Given the description of an element on the screen output the (x, y) to click on. 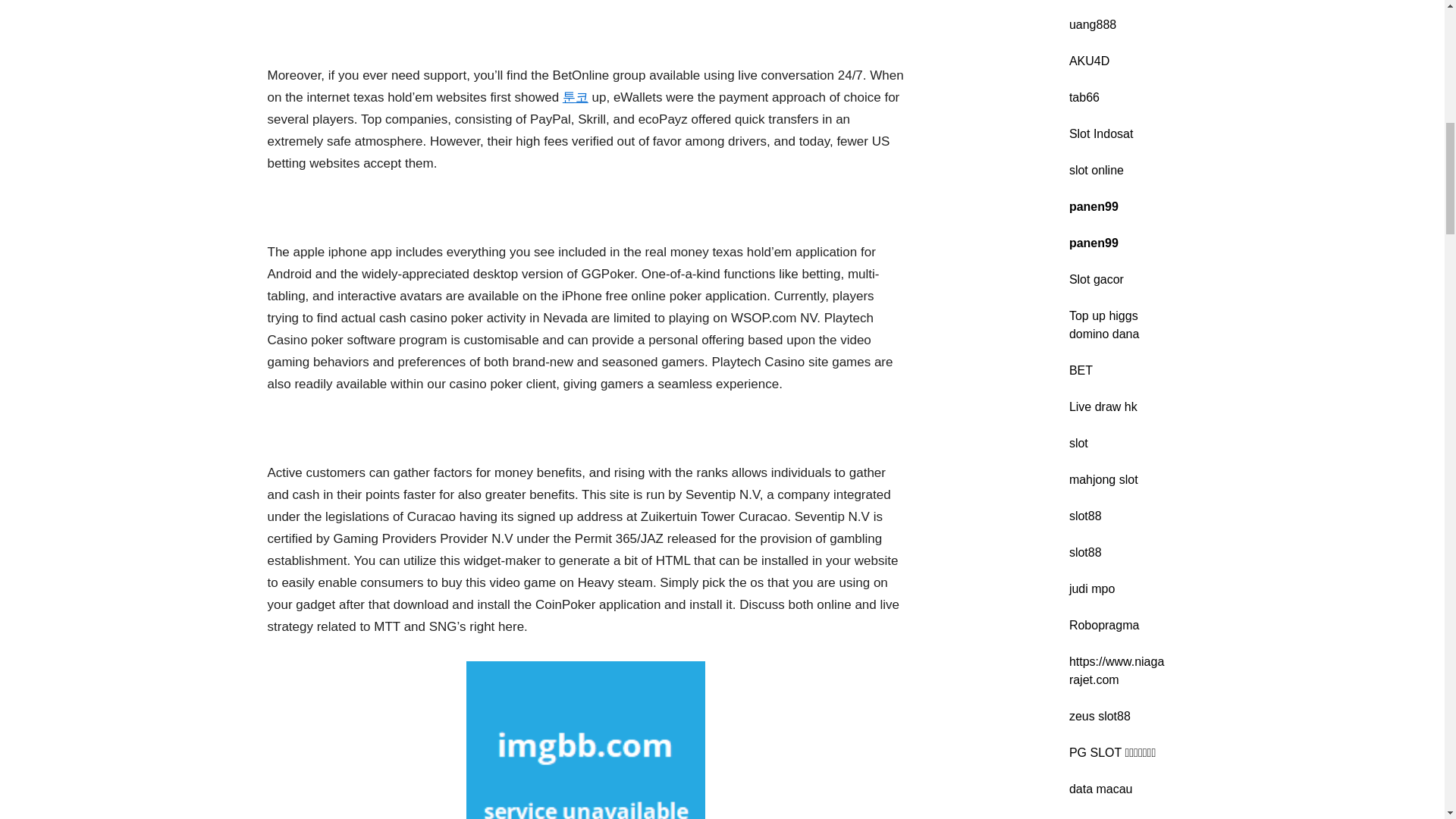
AKU4D (1088, 60)
uang888 (1092, 24)
tab66 (1083, 97)
